Given the description of an element on the screen output the (x, y) to click on. 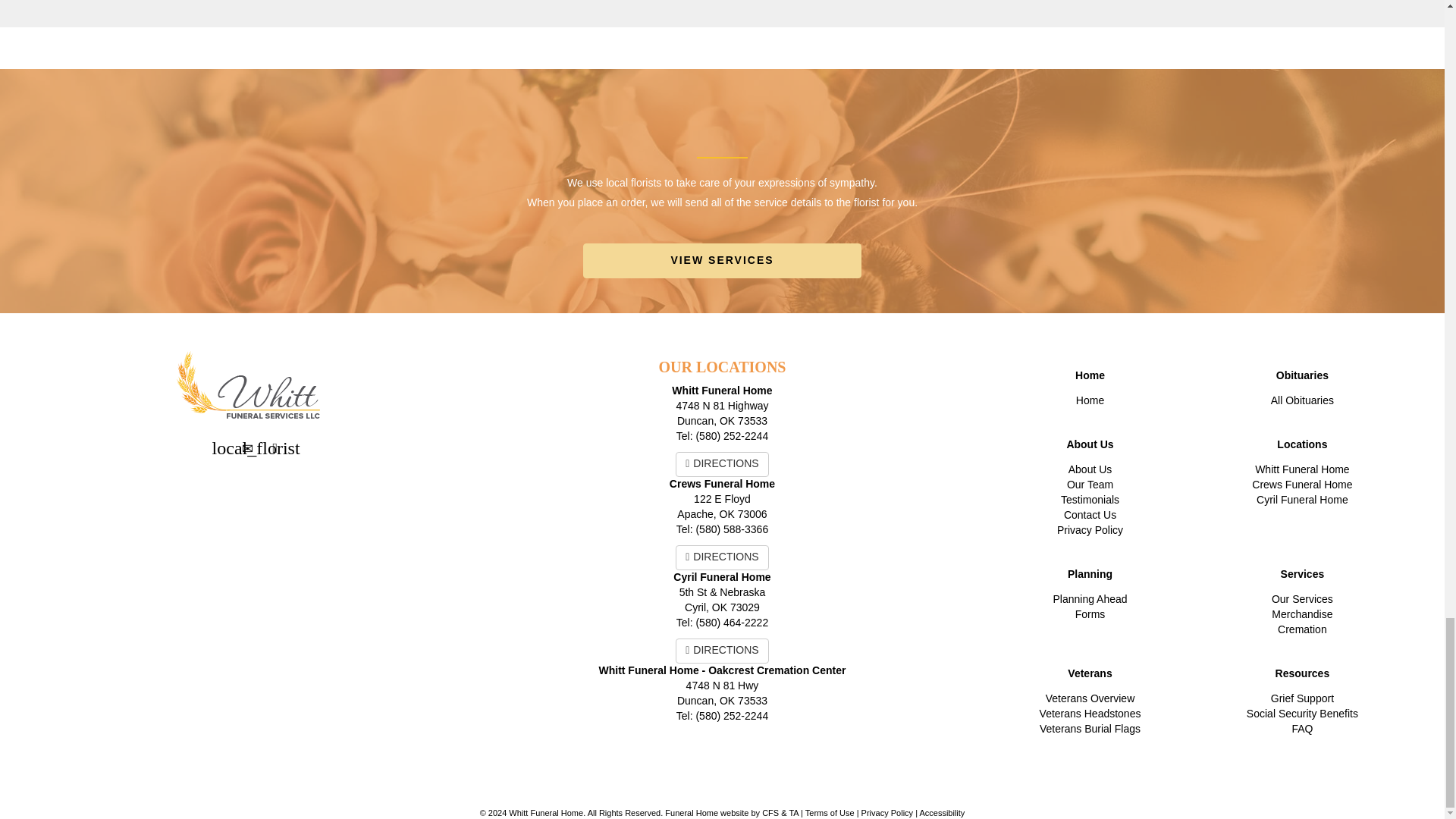
Send Flowers (220, 446)
Directions (274, 446)
Contact Us (247, 446)
